Given the description of an element on the screen output the (x, y) to click on. 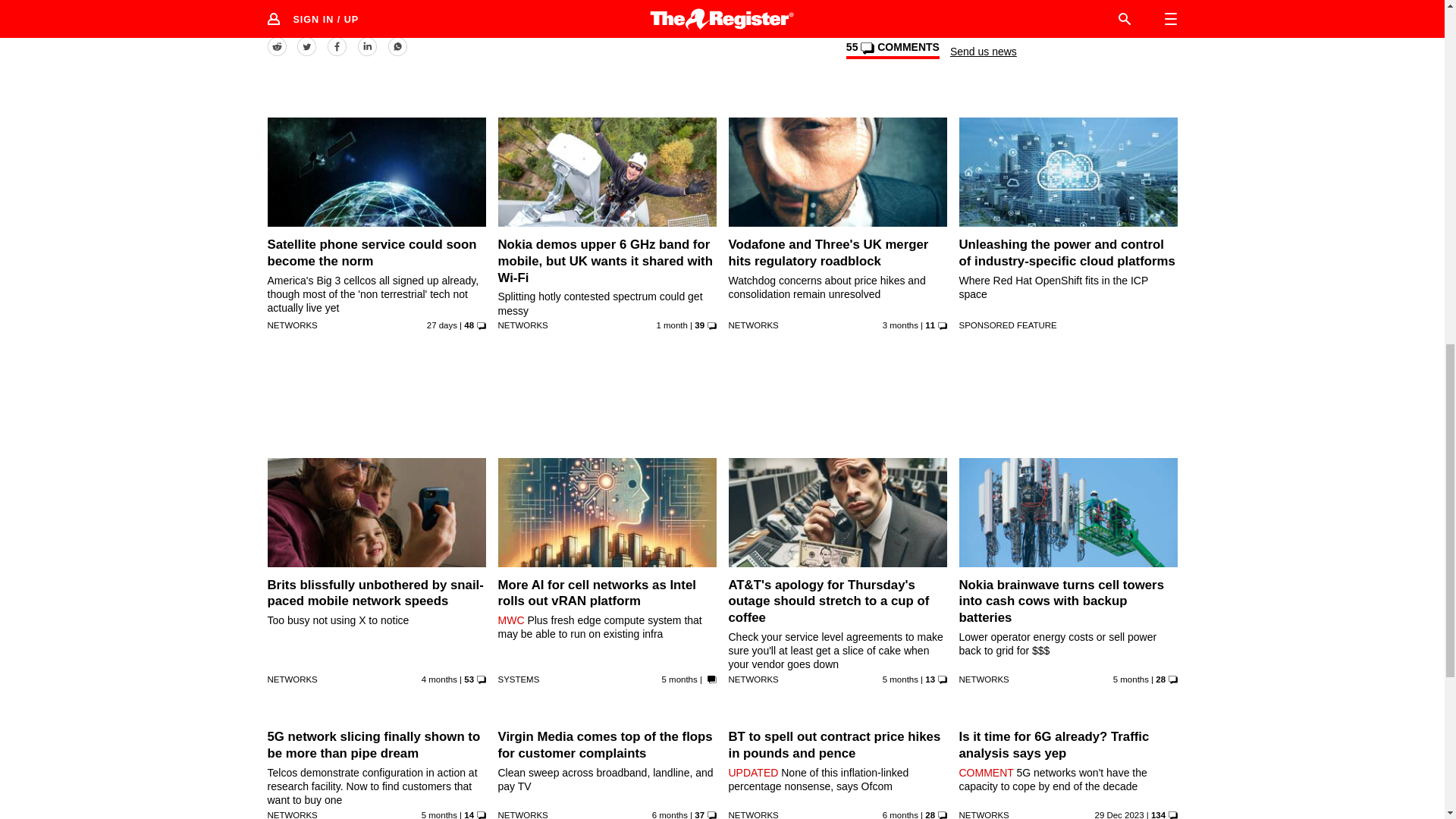
5 Jun 2024 10:27 (671, 325)
19 Jun 2024 14:30 (441, 325)
4 Apr 2024 11:30 (900, 325)
26 Feb 2024 13:9 (900, 678)
8 Feb 2024 13:15 (439, 814)
22 Feb 2024 18:17 (1130, 678)
View comments on this article (892, 49)
20 Mar 2024 9:30 (439, 678)
26 Jan 2024 10:25 (669, 814)
26 Feb 2024 13:30 (679, 678)
